Given the description of an element on the screen output the (x, y) to click on. 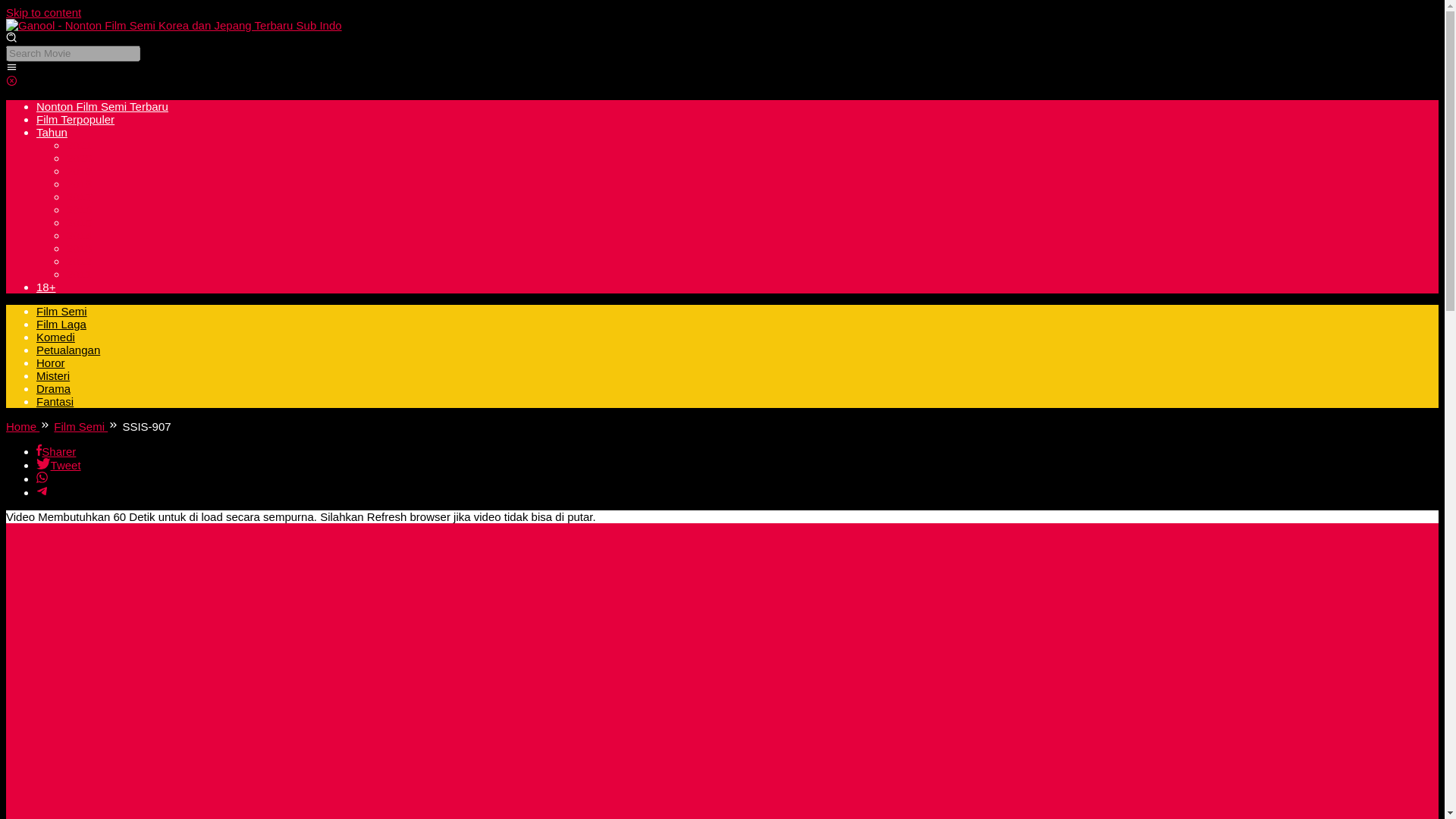
Sharer (55, 451)
Film Terpopuler (75, 119)
Tweet (58, 464)
Skip to content (43, 11)
2014 (78, 235)
Tweet this (58, 464)
Ganool - Nonton Film Semi Korea dan Jepang Terbaru Sub Indo (173, 24)
Home (22, 426)
2021 (78, 144)
2020 (78, 157)
2011 (78, 273)
Petualangan (68, 349)
Komedi (55, 336)
2019 (78, 170)
Misteri (52, 375)
